Given the description of an element on the screen output the (x, y) to click on. 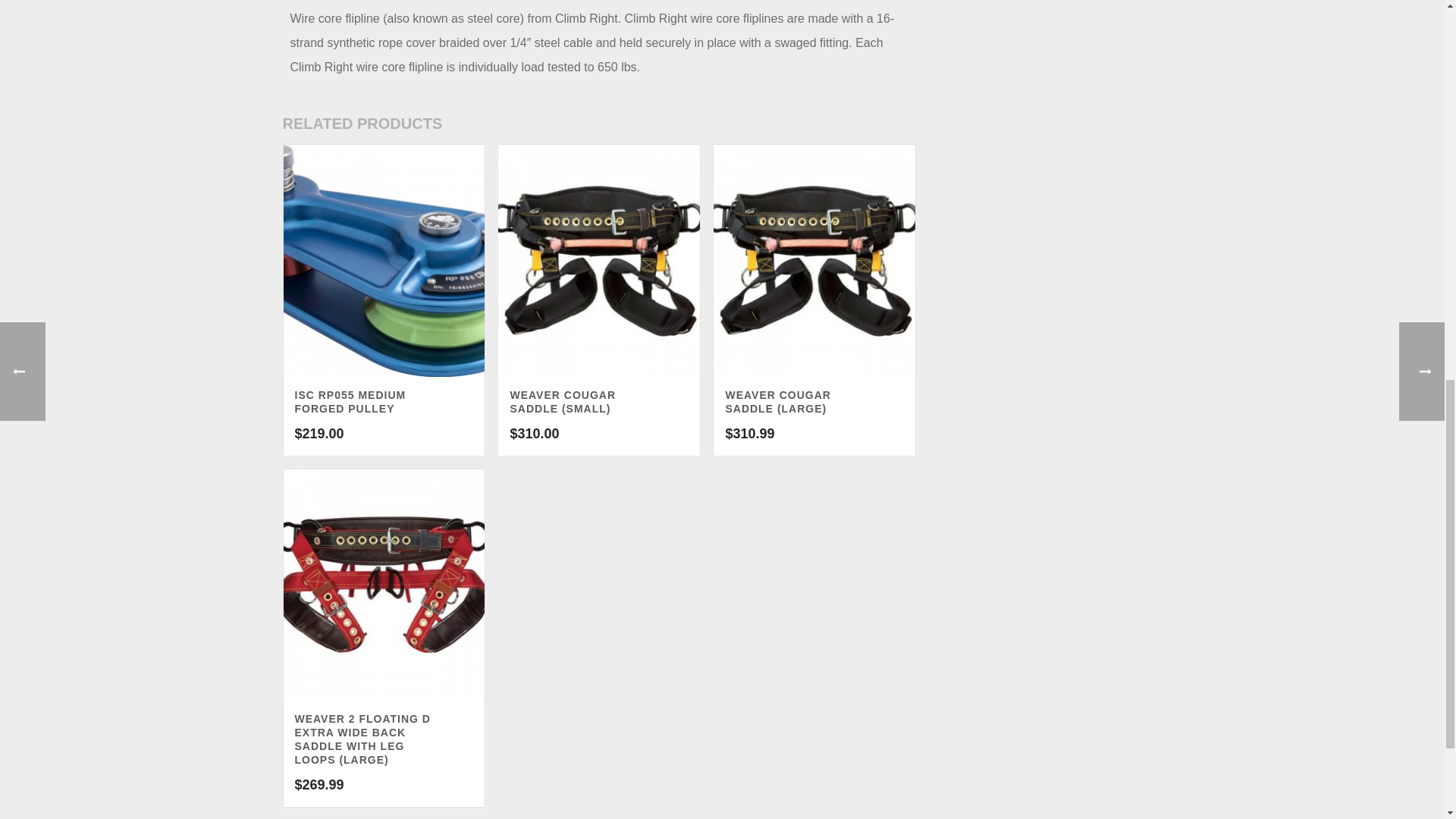
ISC RP055 Medium Forged Pulley (383, 260)
